Given the description of an element on the screen output the (x, y) to click on. 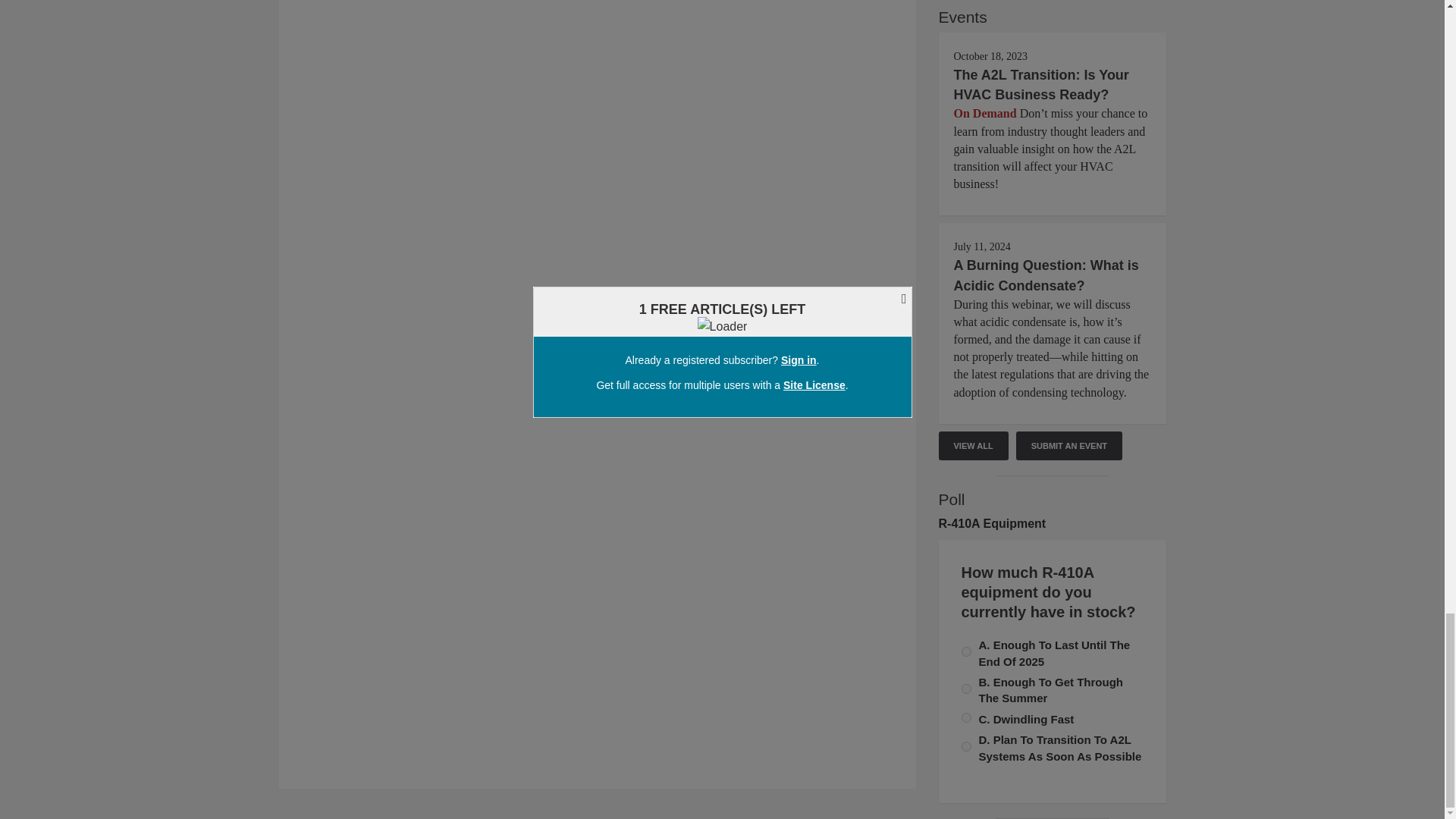
598 (965, 717)
597 (965, 651)
596 (965, 688)
The A2L Transition: Is Your HVAC Business Ready? (1041, 84)
599 (965, 746)
A Burning Question: What is Acidic Condensate? (1045, 274)
